Given the description of an element on the screen output the (x, y) to click on. 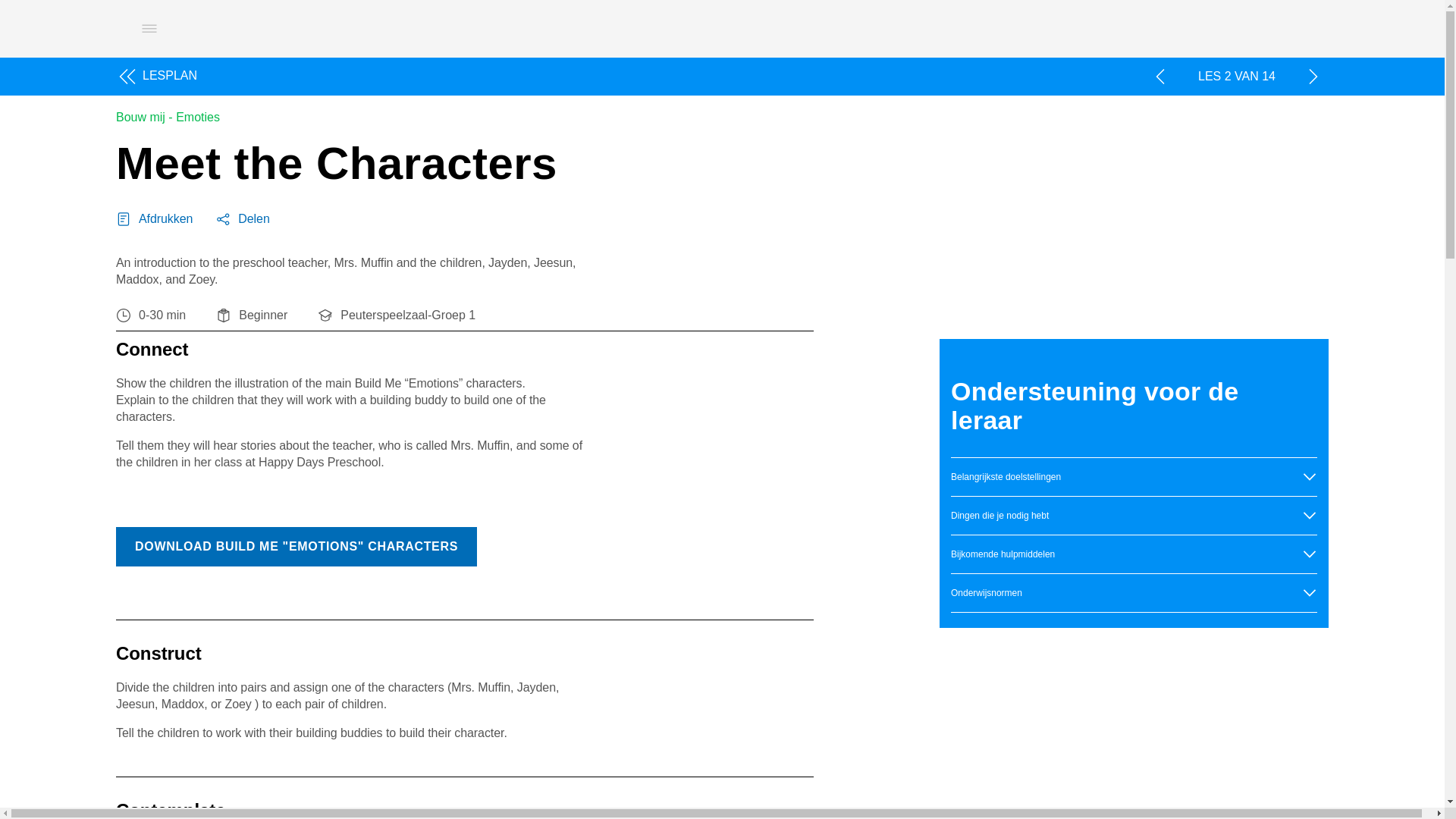
Delen (242, 218)
LESPLAN (160, 76)
Dingen die je nodig hebt (1133, 515)
Belangrijkste doelstellingen (1133, 476)
Afdrukken (154, 218)
Onderwijsnormen (1133, 592)
Bijkomende hulpmiddelen (1133, 554)
DOWNLOAD BUILD ME "EMOTIONS" CHARACTERS (296, 546)
